Given the description of an element on the screen output the (x, y) to click on. 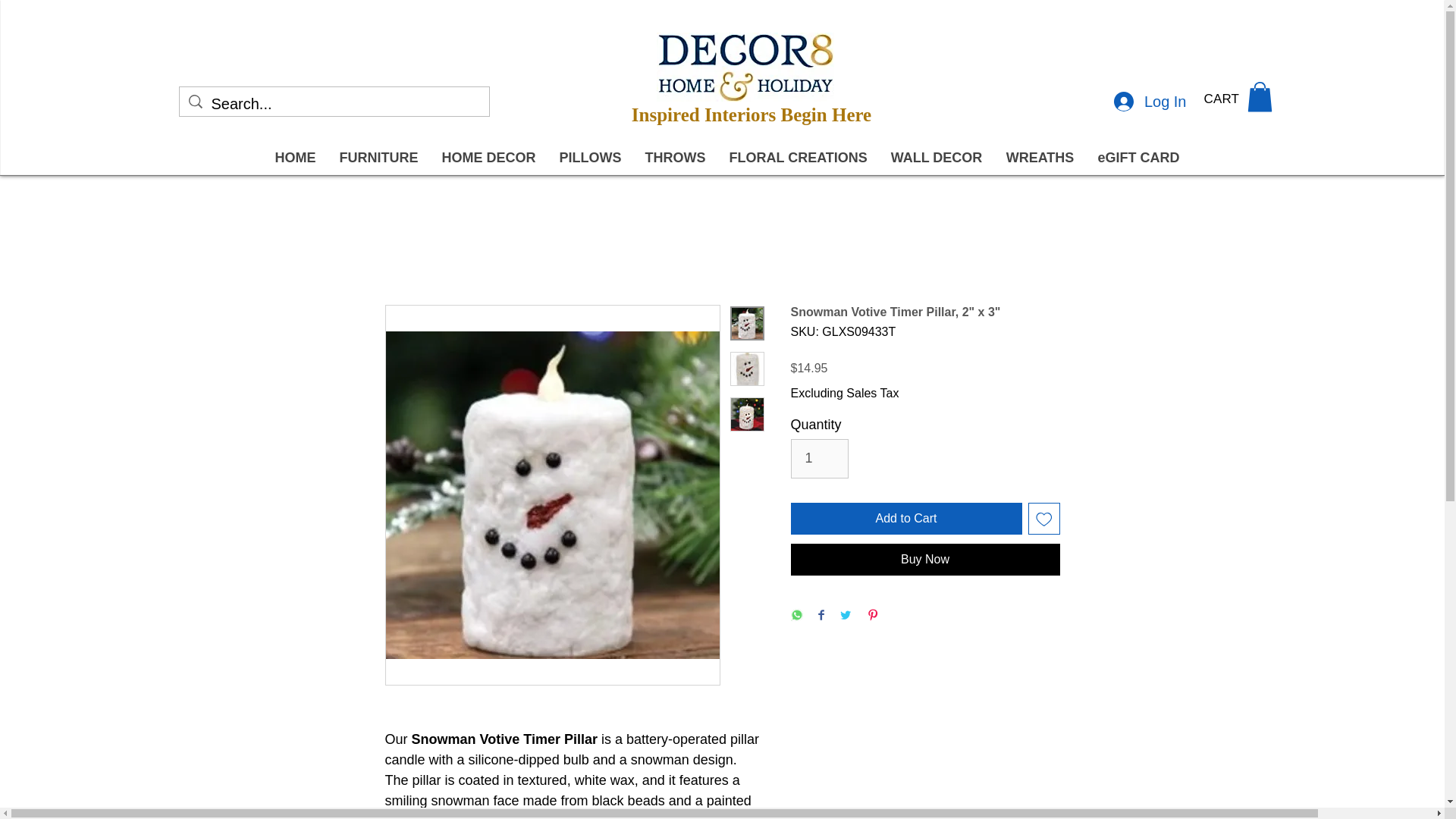
FURNITURE (378, 157)
eGIFT CARD (1138, 157)
1 (818, 458)
WALL DECOR (934, 157)
THROWS (673, 157)
Buy Now (924, 559)
Log In (1149, 101)
HOME (294, 157)
PILLOWS (590, 157)
Add to Cart (906, 518)
